Given the description of an element on the screen output the (x, y) to click on. 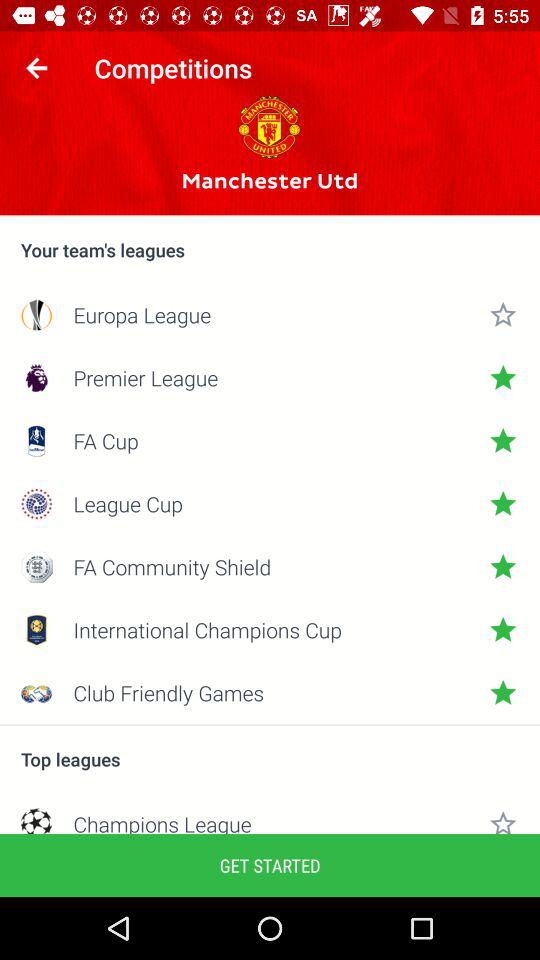
scroll until the your team s (270, 249)
